Given the description of an element on the screen output the (x, y) to click on. 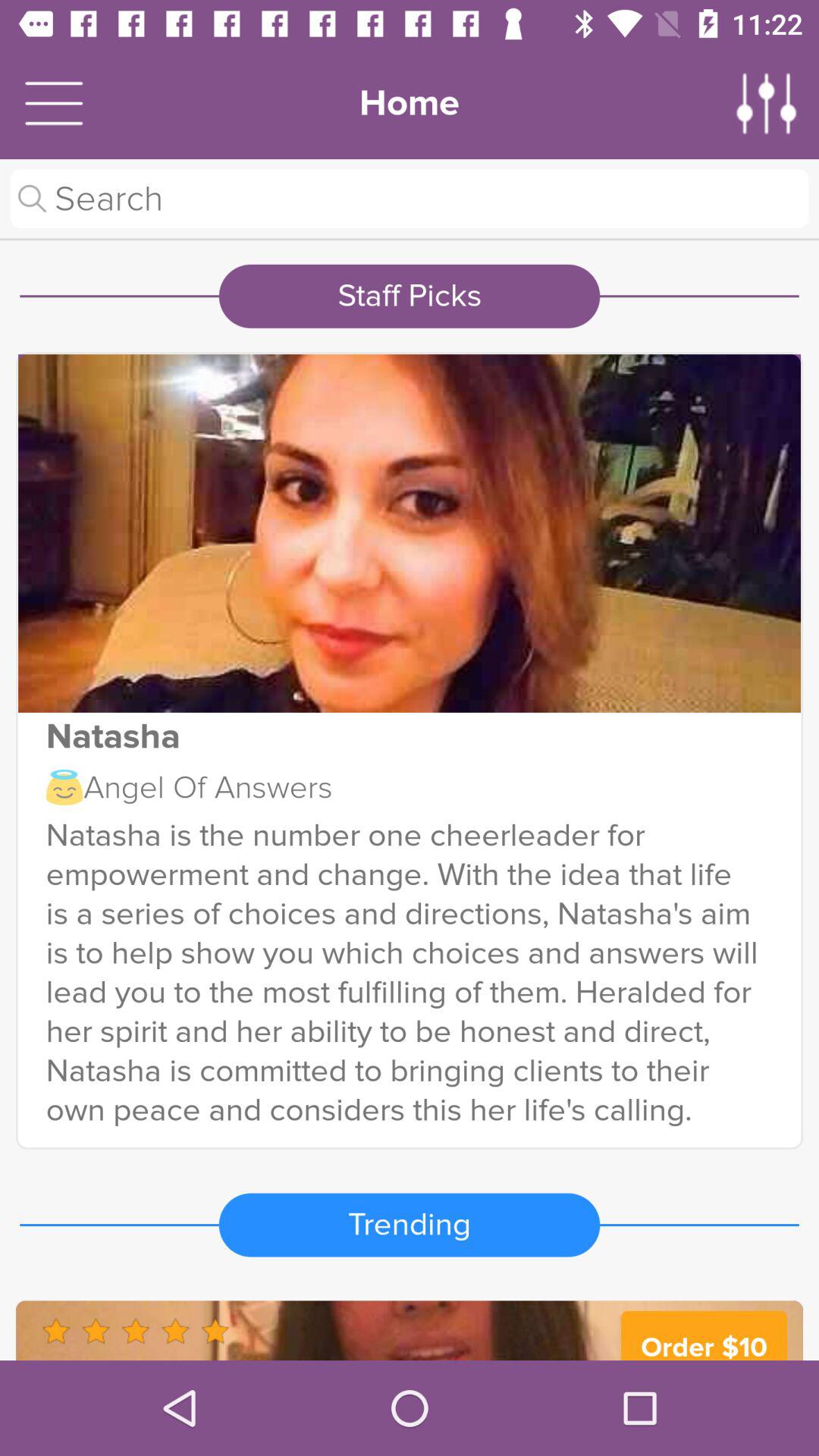
settings (767, 103)
